Given the description of an element on the screen output the (x, y) to click on. 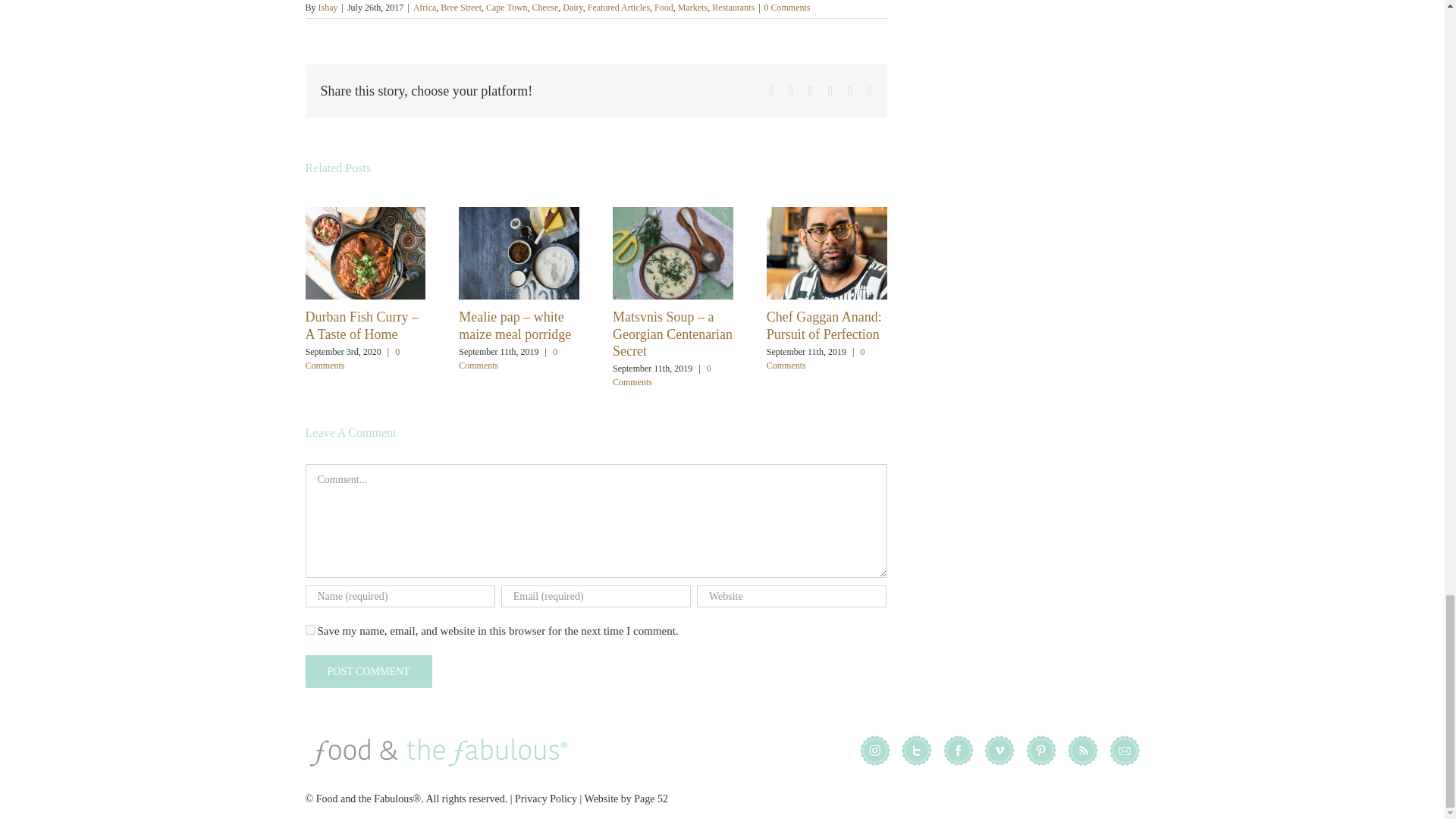
Post Comment (367, 671)
Posts by Ishay (327, 7)
yes (309, 629)
